Given the description of an element on the screen output the (x, y) to click on. 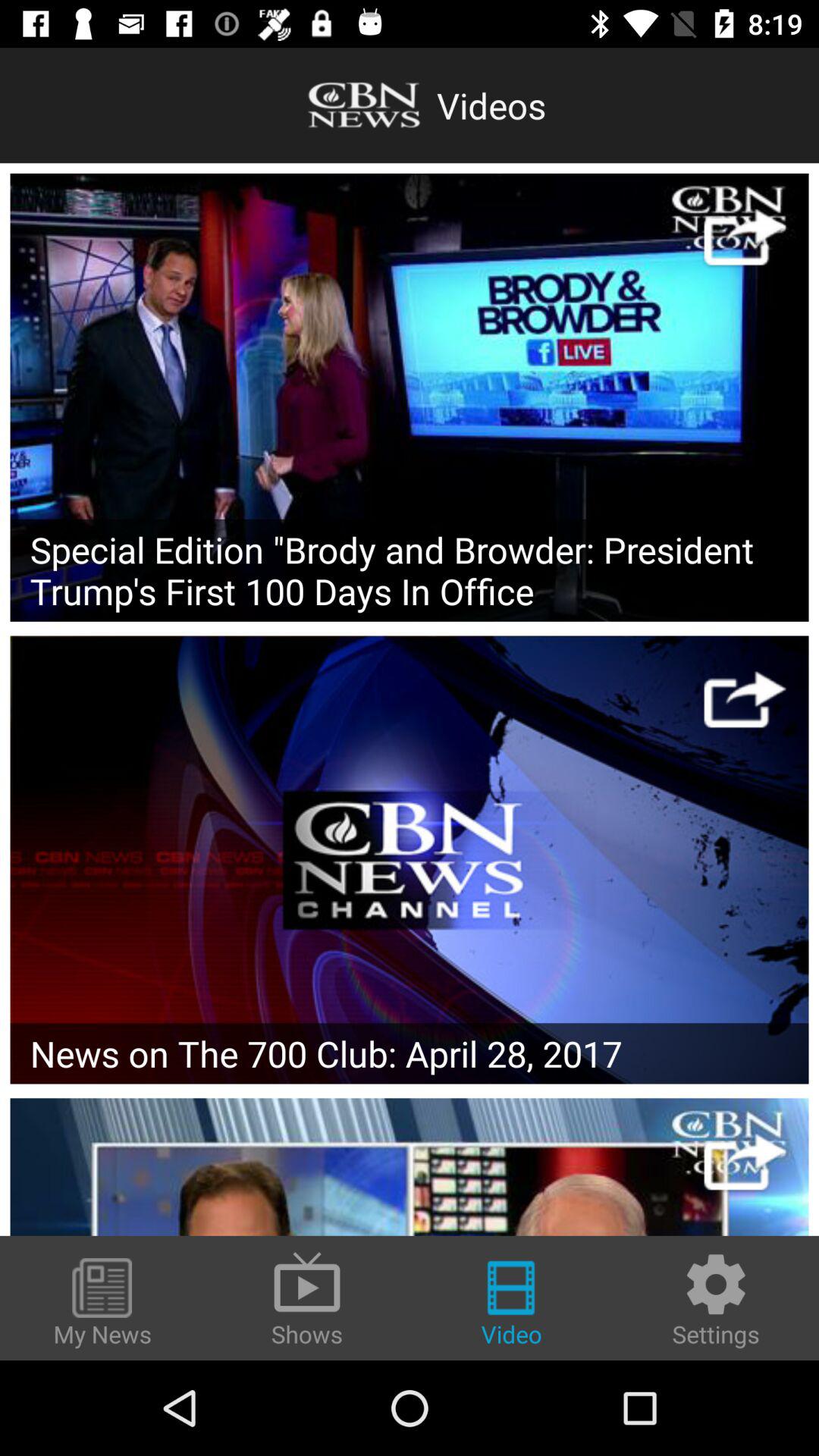
scroll until the shows (306, 1298)
